Given the description of an element on the screen output the (x, y) to click on. 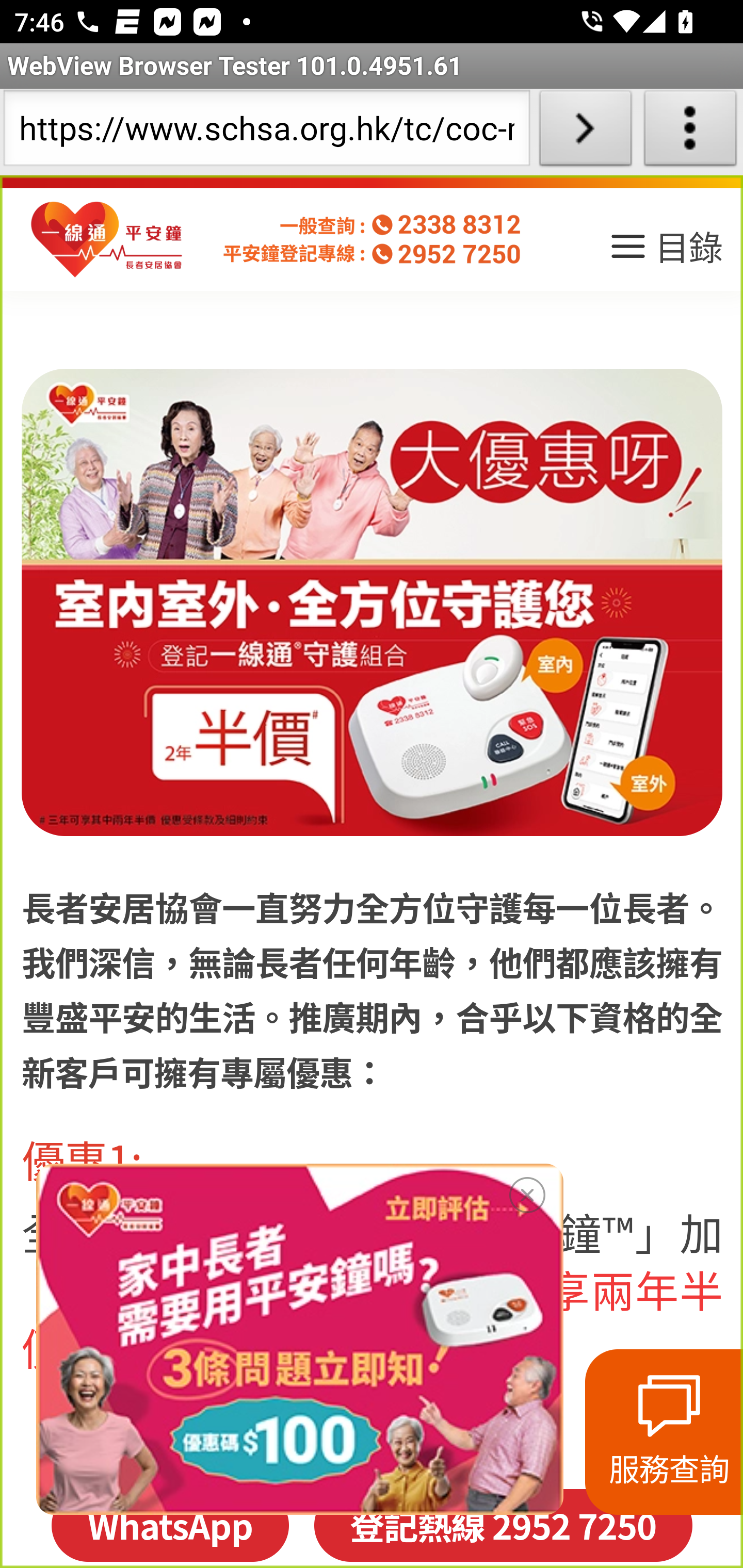
Load URL (585, 132)
About WebView (690, 132)
homepage (107, 240)
目錄 (665, 252)
Dec Coupon Code Allsize Popup 300x200 Yescta (299, 1338)
site.close (526, 1191)
服務查詢 (664, 1432)
